Given the description of an element on the screen output the (x, y) to click on. 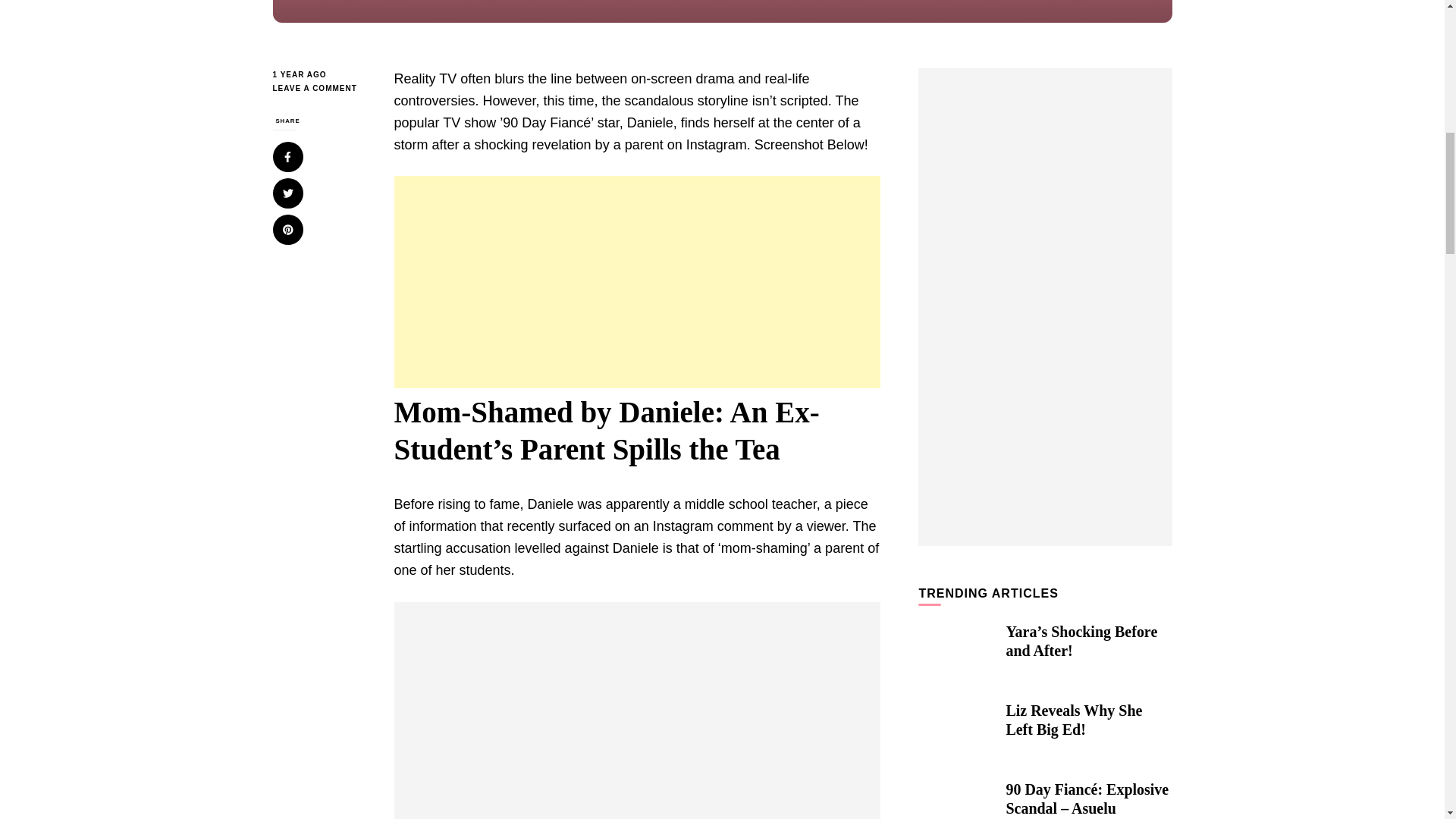
Advertisement (637, 282)
LEAVE A COMMENT (322, 88)
1 YEAR AGO (322, 74)
